Given the description of an element on the screen output the (x, y) to click on. 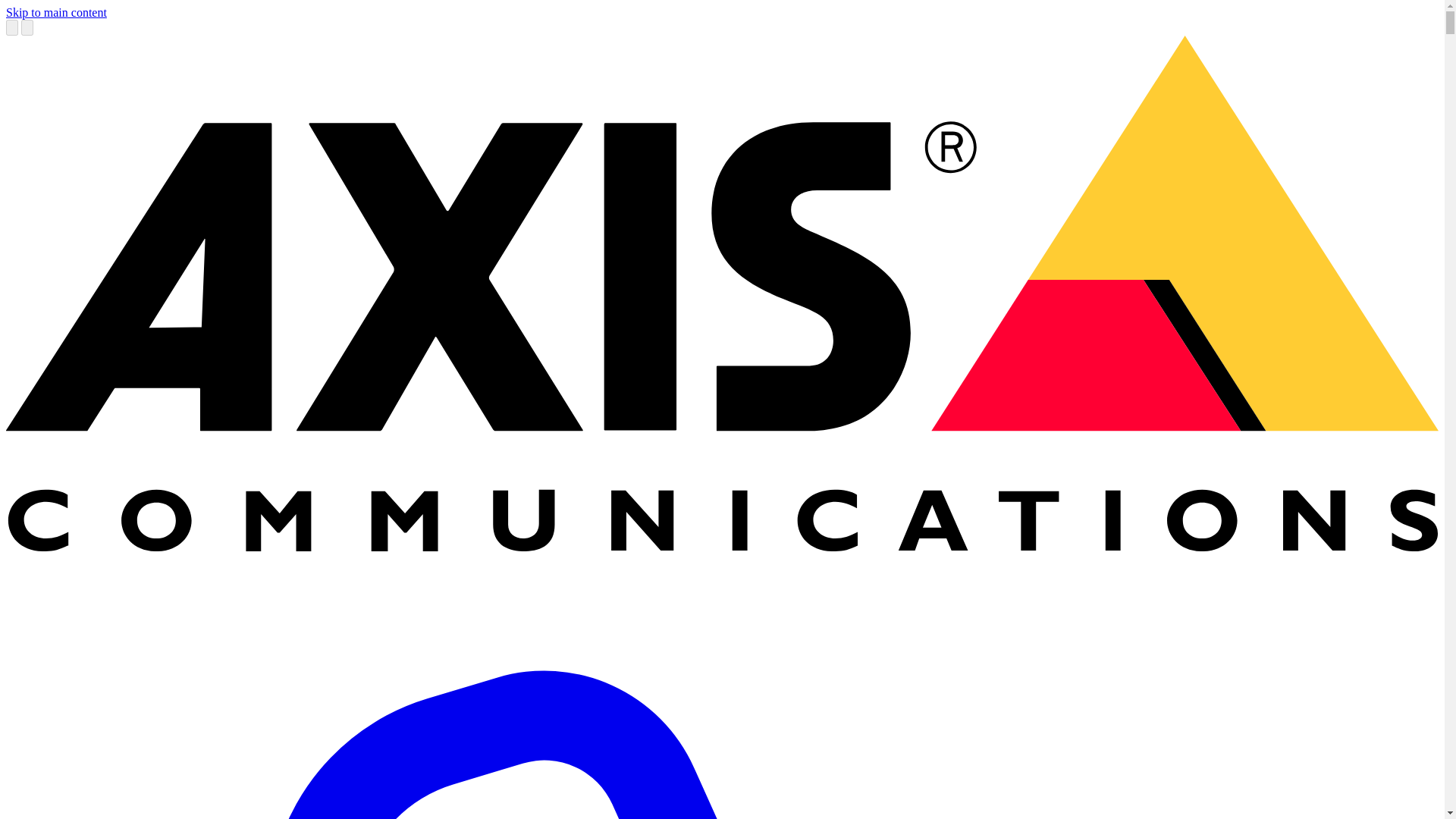
Skip to main content (55, 11)
